Given the description of an element on the screen output the (x, y) to click on. 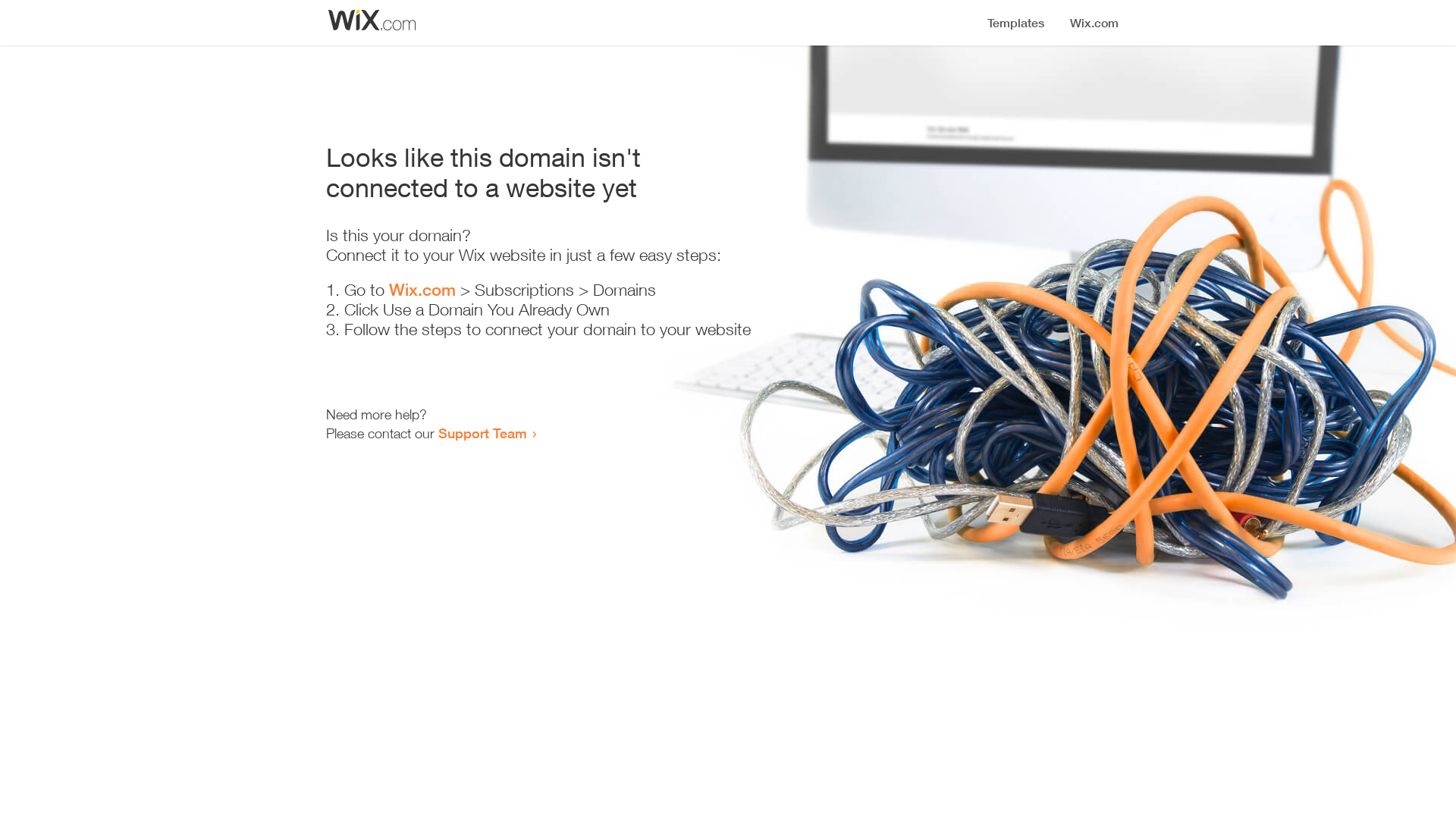
Wix.com Element type: text (422, 289)
Support Team Element type: text (482, 432)
